Given the description of an element on the screen output the (x, y) to click on. 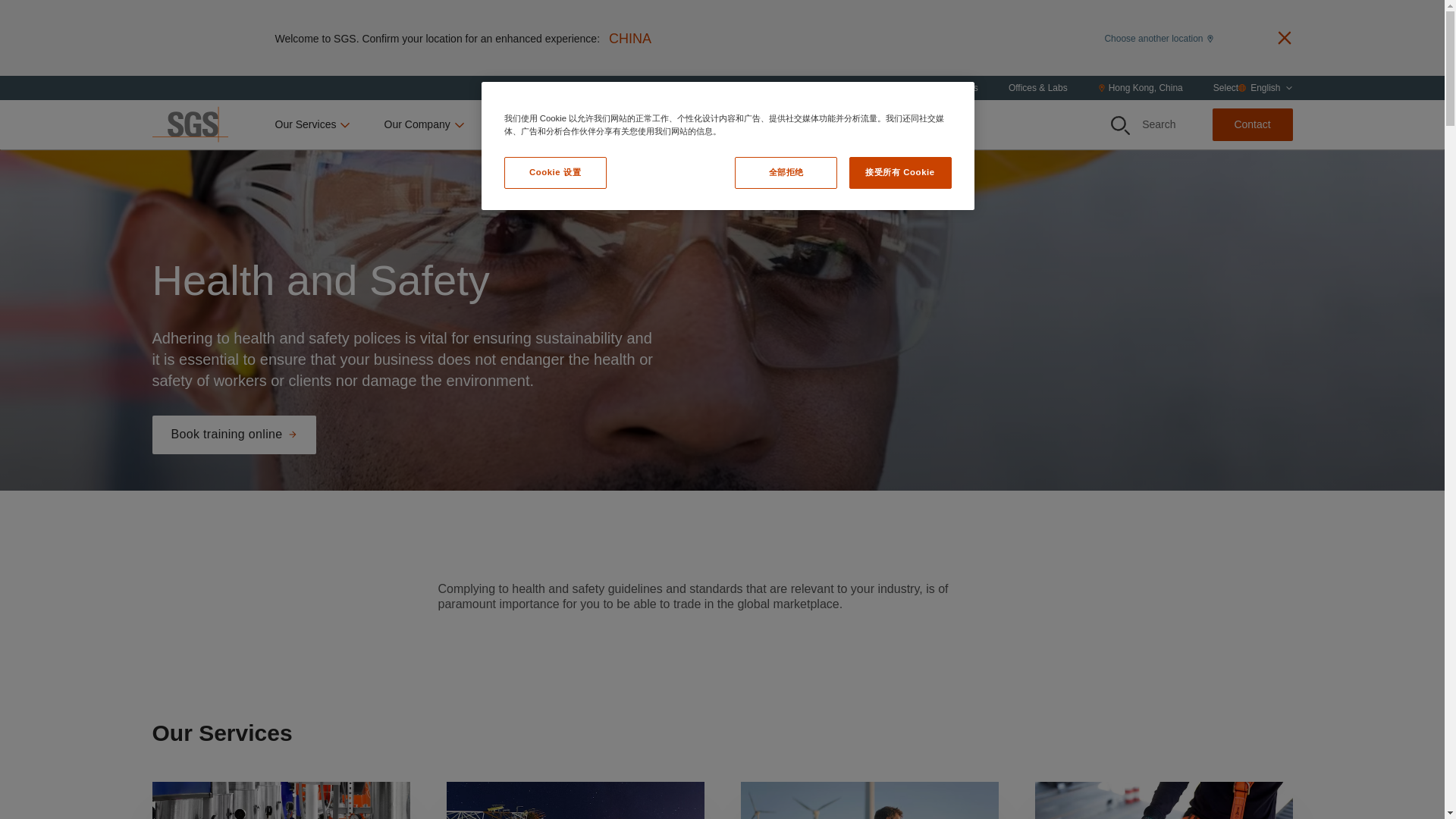
Choose another location (1157, 37)
Sustainability (536, 124)
Search (1119, 125)
Search (1143, 124)
Our Services (313, 124)
Health, Safety and Environment Management HSE (868, 800)
Fixed Electrical Installations (574, 800)
Media (713, 124)
Contact (1251, 124)
Our Company (424, 124)
Investors (637, 124)
Book training online (233, 434)
Hong Kong, China (1139, 87)
Boiler Inspection Services (280, 800)
SGS (189, 124)
